Given the description of an element on the screen output the (x, y) to click on. 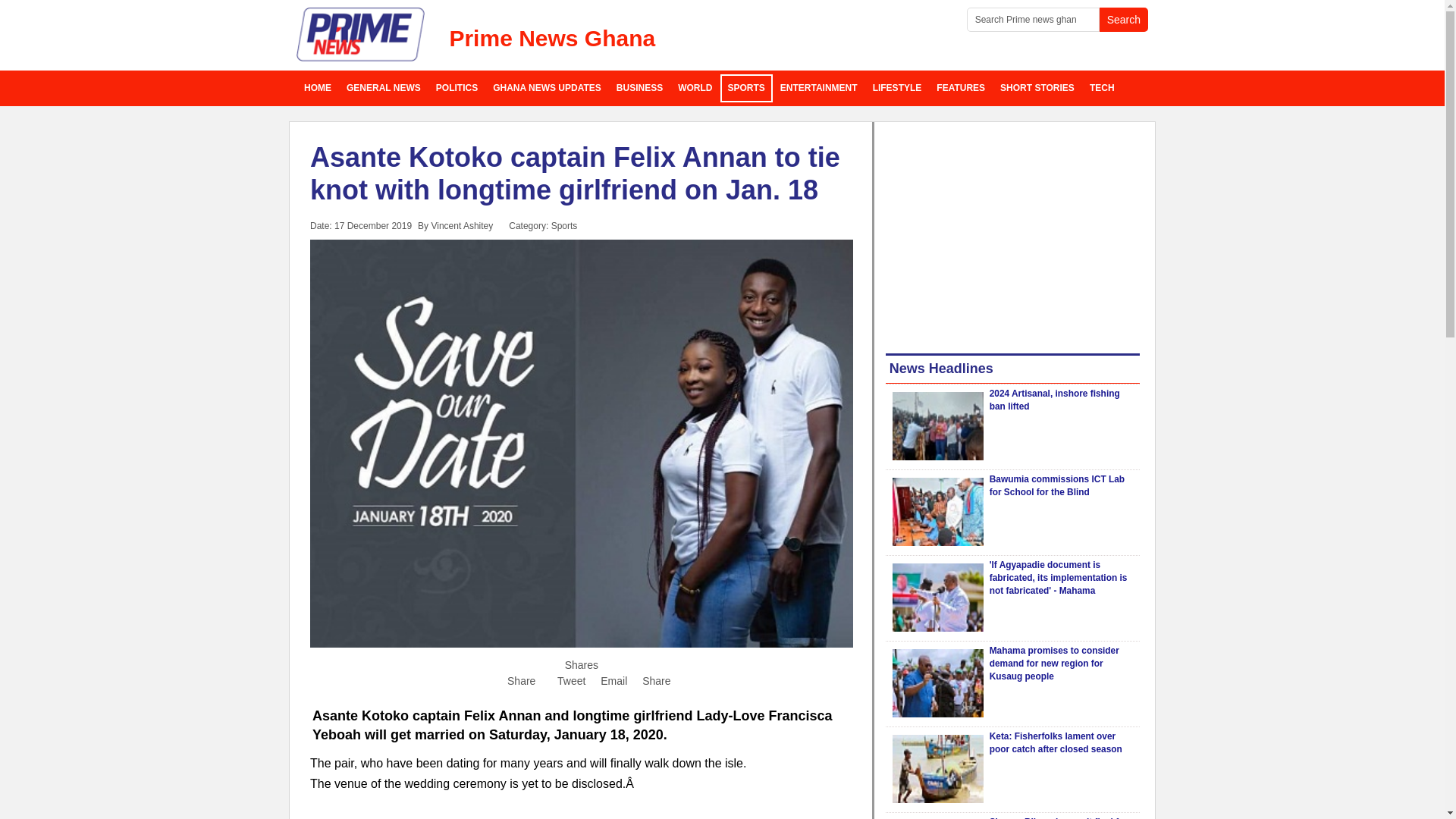
Advertisement (581, 815)
Search (1123, 19)
SPORTS (746, 88)
GHANA NEWS UPDATES (546, 88)
HOME (318, 88)
BUSINESS (638, 88)
Keta: Fisherfolks lament over poor catch after closed season (1056, 742)
Ghana Political News (456, 88)
Search (1123, 19)
Tech News on Prime (1101, 88)
Today's World News covering, Africa, Europe, Middle East (694, 88)
